Given the description of an element on the screen output the (x, y) to click on. 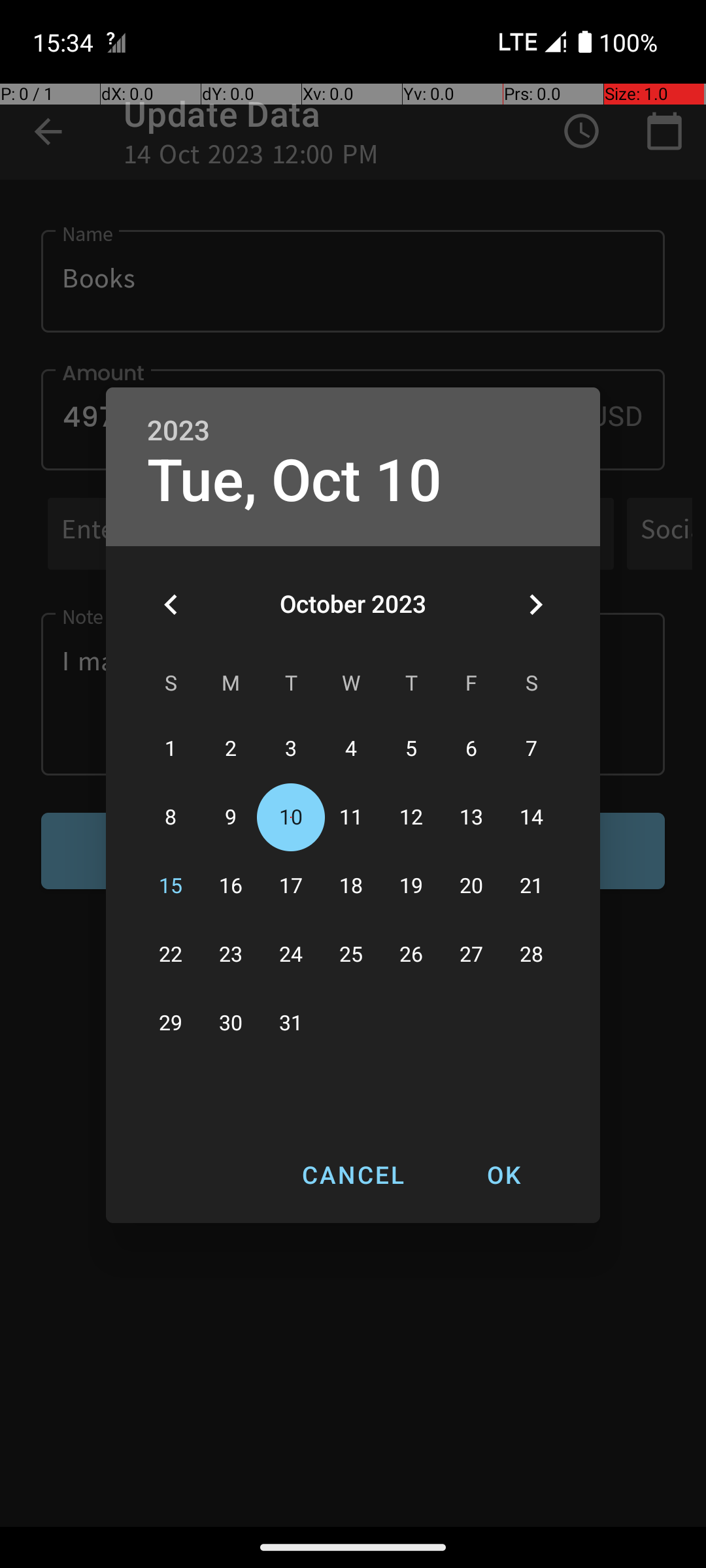
Tue, Oct 10 Element type: android.widget.TextView (294, 480)
